Given the description of an element on the screen output the (x, y) to click on. 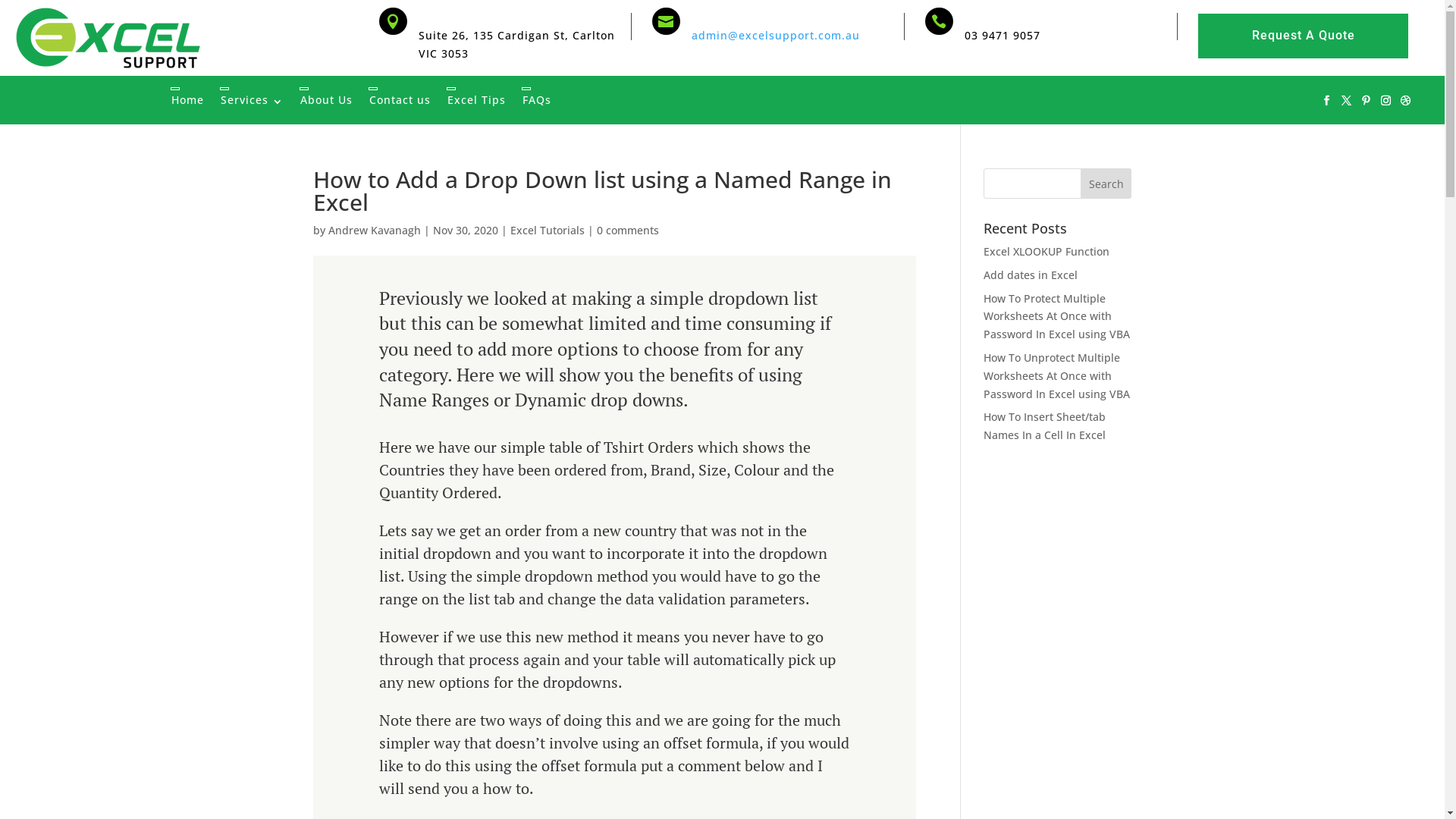
0 comments Element type: text (627, 229)
Excel Tutorials Element type: text (546, 229)
Follow on Facebook Element type: hover (1326, 100)
Excel XLOOKUP Function Element type: text (1046, 251)
Contact us Element type: text (399, 99)
Follow on X Element type: hover (1345, 100)
Follow on dribbble Element type: hover (1405, 100)
Search Element type: text (1106, 183)
FAQs Element type: text (536, 99)
About Us Element type: text (326, 99)
How To Insert Sheet/tab Names In a Cell In Excel Element type: text (1044, 425)
Andrew Kavanagh Element type: text (373, 229)
Follow on Pinterest Element type: hover (1365, 100)
Services Element type: text (251, 99)
Add dates in Excel Element type: text (1030, 274)
Excel Support Logo Resize Element type: hover (121, 37)
Email Element type: text (711, 15)
admin@excelsupport.com.au  Element type: text (777, 35)
Excel Tips Element type: text (476, 99)
Follow on Instagram Element type: hover (1385, 100)
Phone Element type: text (987, 15)
Home Element type: text (187, 99)
